Given the description of an element on the screen output the (x, y) to click on. 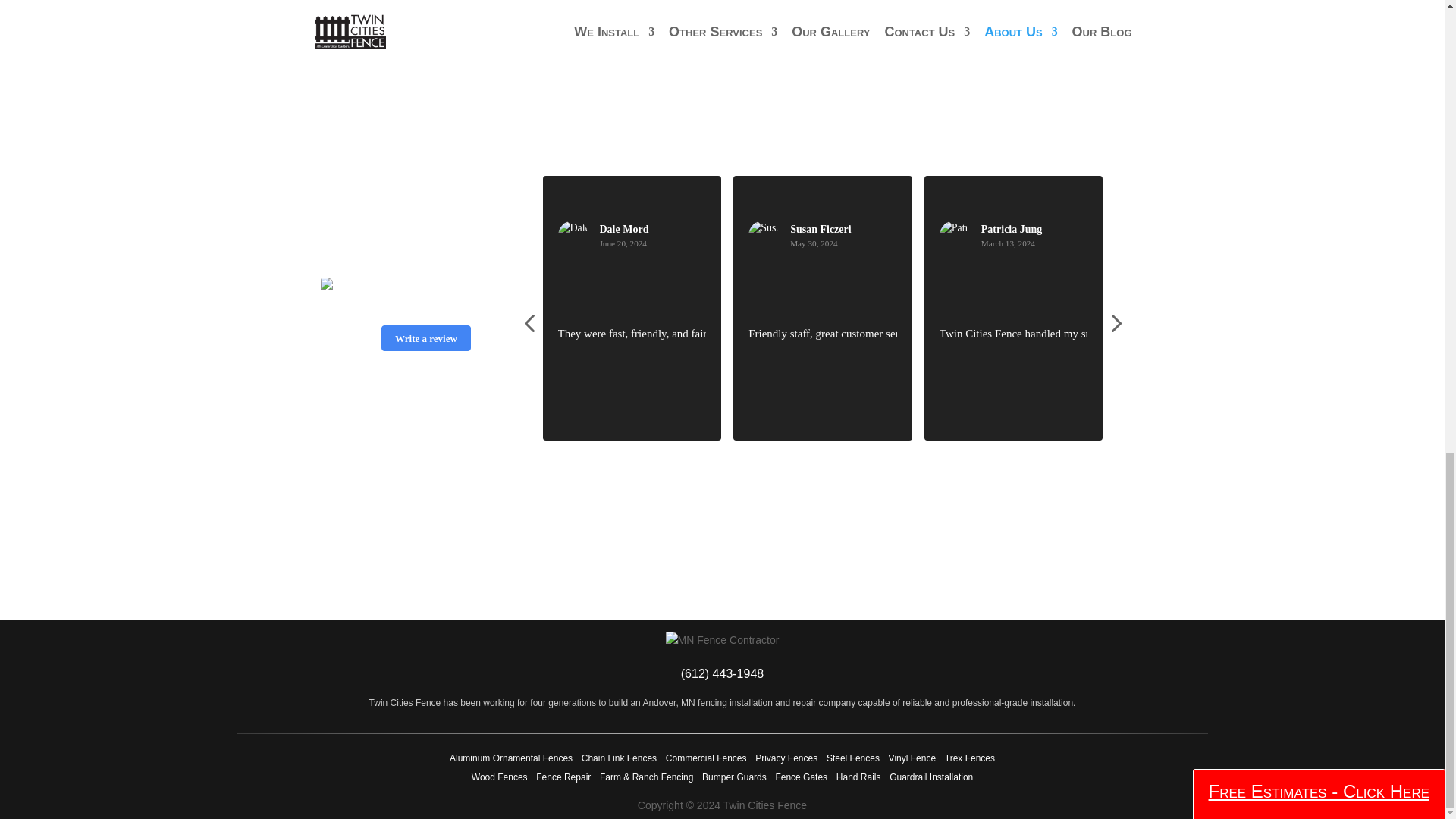
Chain Link Fences (618, 757)
Commercial Fences (705, 757)
Write a review (425, 338)
Aluminum Ornamental Fences (510, 757)
Privacy Fences (785, 757)
Steel Fences (853, 757)
